Given the description of an element on the screen output the (x, y) to click on. 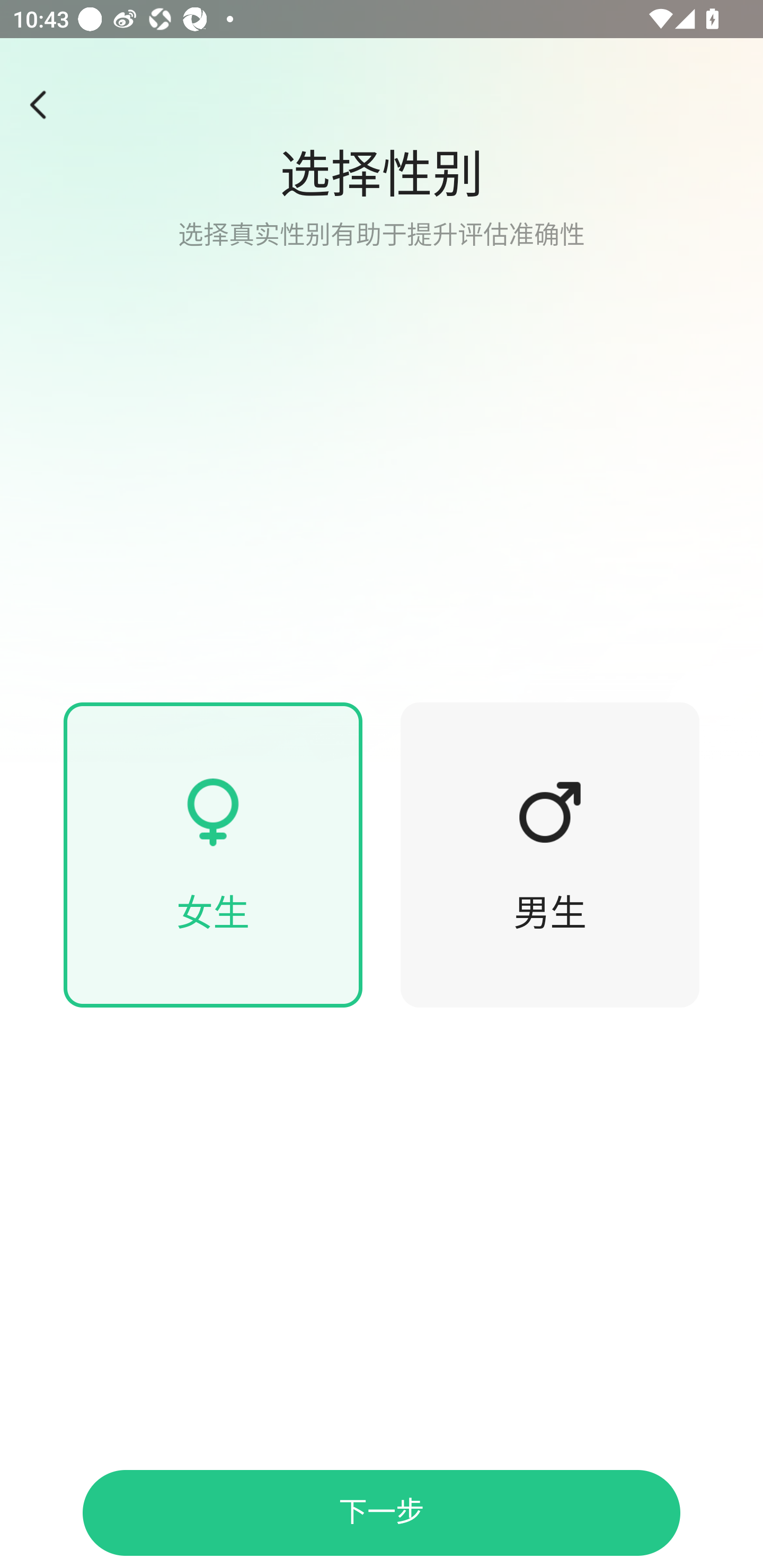
1 (381, 381)
1 (44, 104)
1 女生 (212, 855)
1 男生 (549, 855)
1 (212, 811)
1 (549, 811)
下一步 (381, 1512)
